Given the description of an element on the screen output the (x, y) to click on. 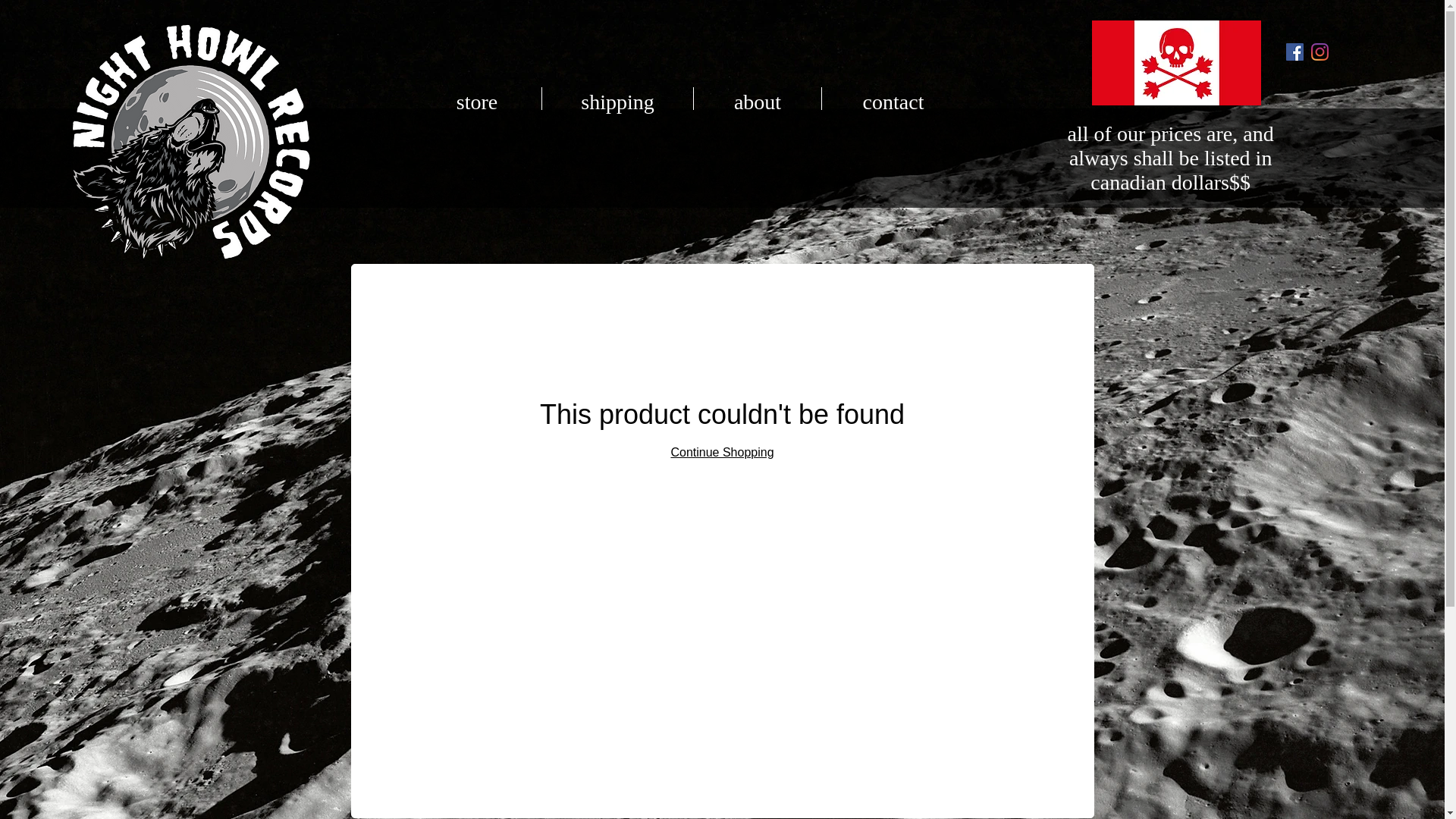
contact (892, 97)
about (757, 97)
shipping (617, 97)
Continue Shopping (721, 451)
store (476, 97)
